Given the description of an element on the screen output the (x, y) to click on. 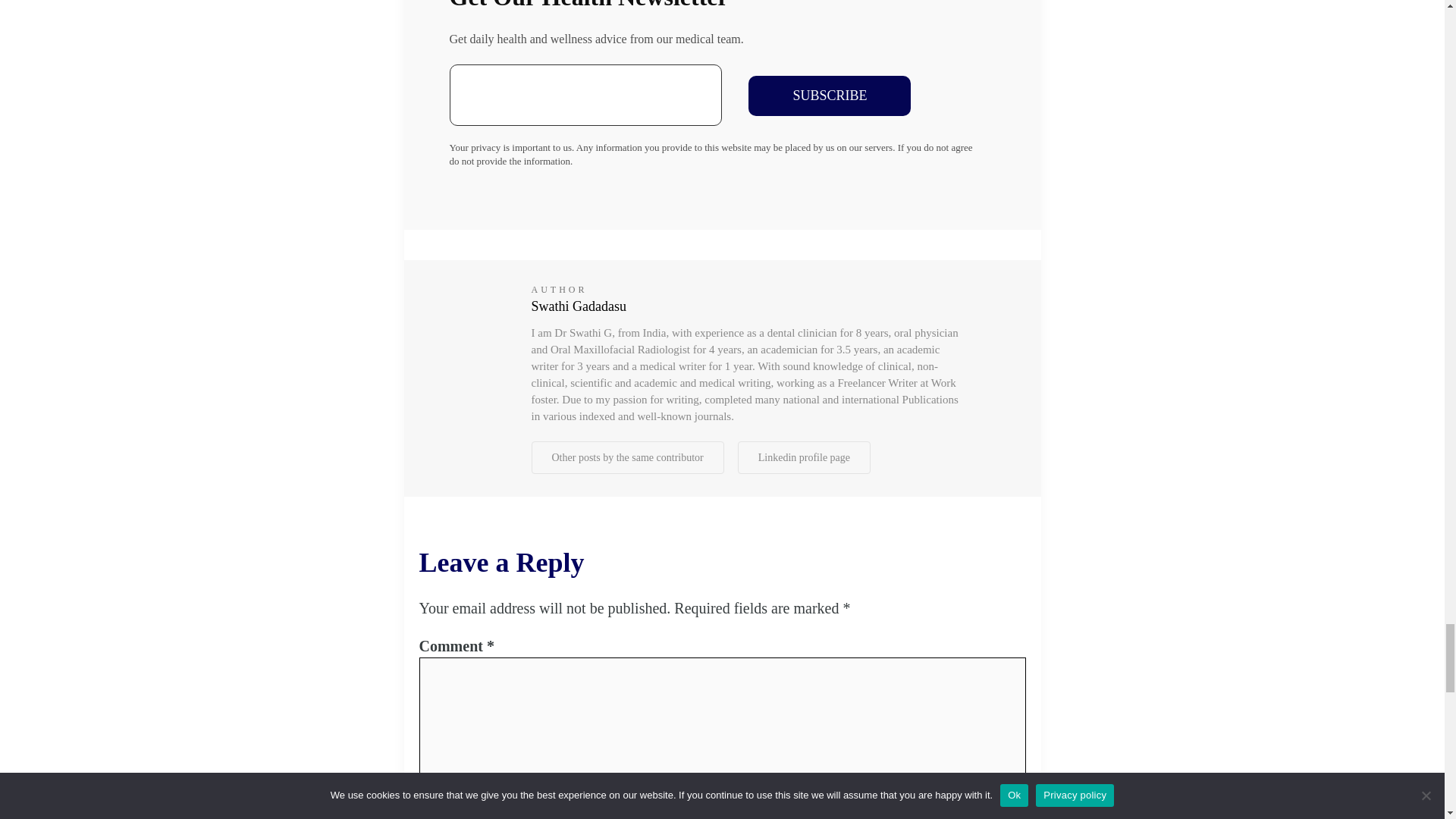
SUBSCRIBE (829, 96)
